Given the description of an element on the screen output the (x, y) to click on. 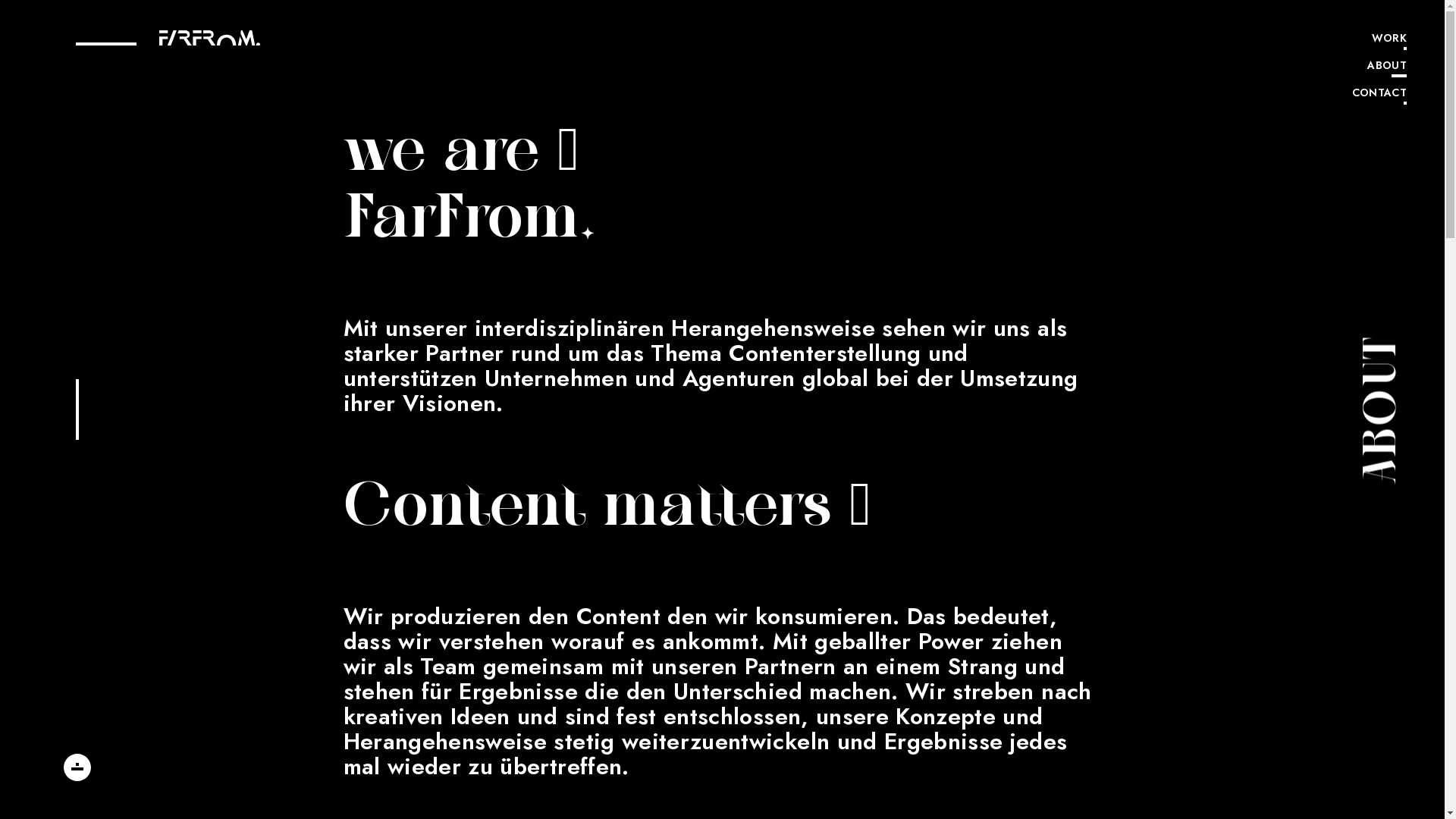
ABOUT Element type: text (1379, 67)
CONTACT Element type: text (1379, 94)
WORK Element type: text (1379, 40)
